Given the description of an element on the screen output the (x, y) to click on. 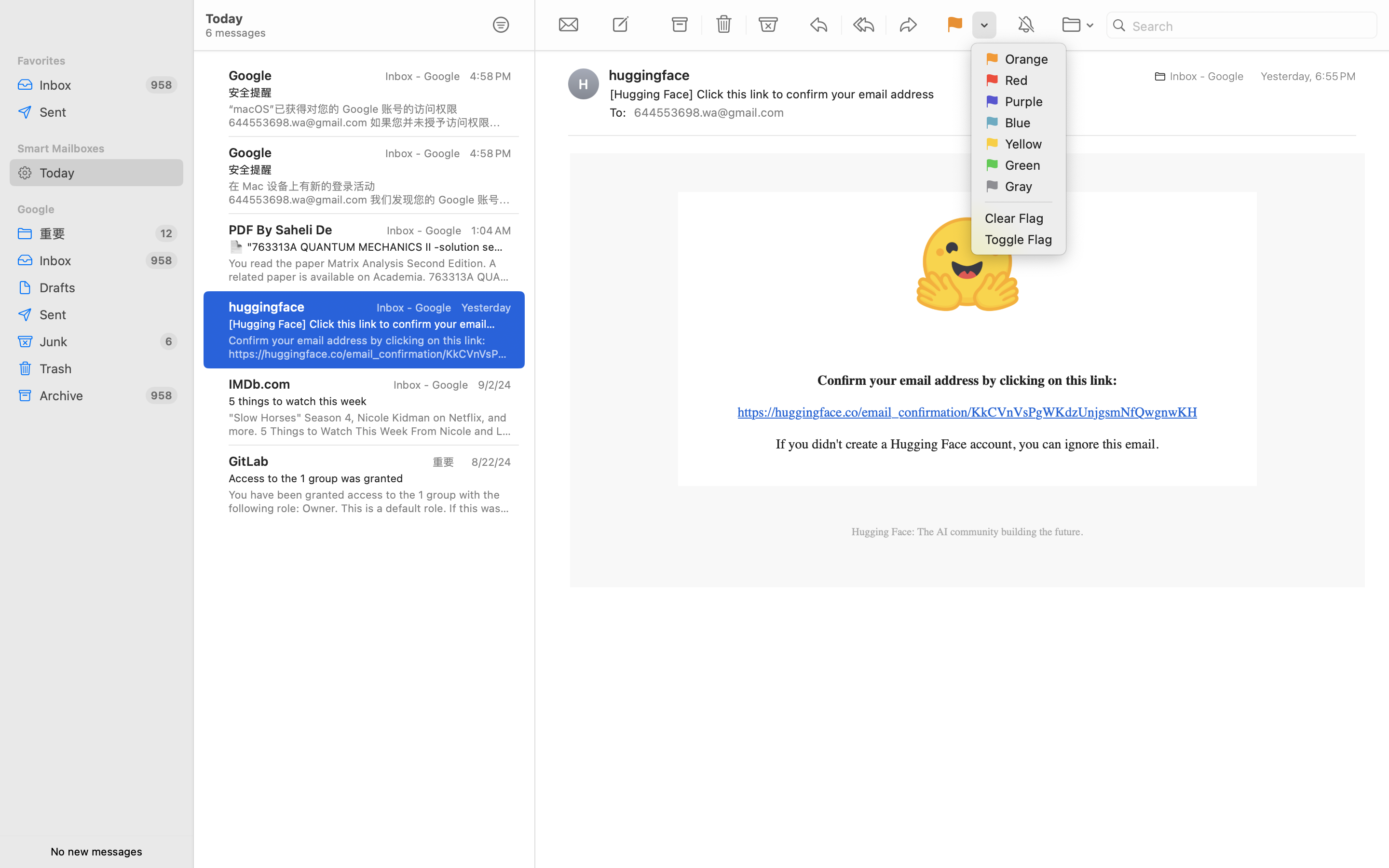
Trash Element type: AXStaticText (107, 368)
You read the paper Matrix Analysis Second Edition. A related paper is available on Academia. 763313A QUANTUM MECHANICS II -solution set 2 -spring 2014 Saheli De 237 Views View PDF ▸ Download PDF ⬇ Your recent reading history: Matrix Analysis Second Edition - Benedict Cui Want fewer recommendations like this one? 580 California St., Suite 400, San Francisco, CA, 94104 Unsubscribe Privacy Policy Terms of Service © 2024 Academia Element type: AXStaticText (369, 269)
Favorites Element type: AXStaticText (96, 60)
Hugging Face: The AI community building the future. Element type: AXStaticText (967, 531)
Inbox - Google Element type: AXStaticText (421, 75)
